Given the description of an element on the screen output the (x, y) to click on. 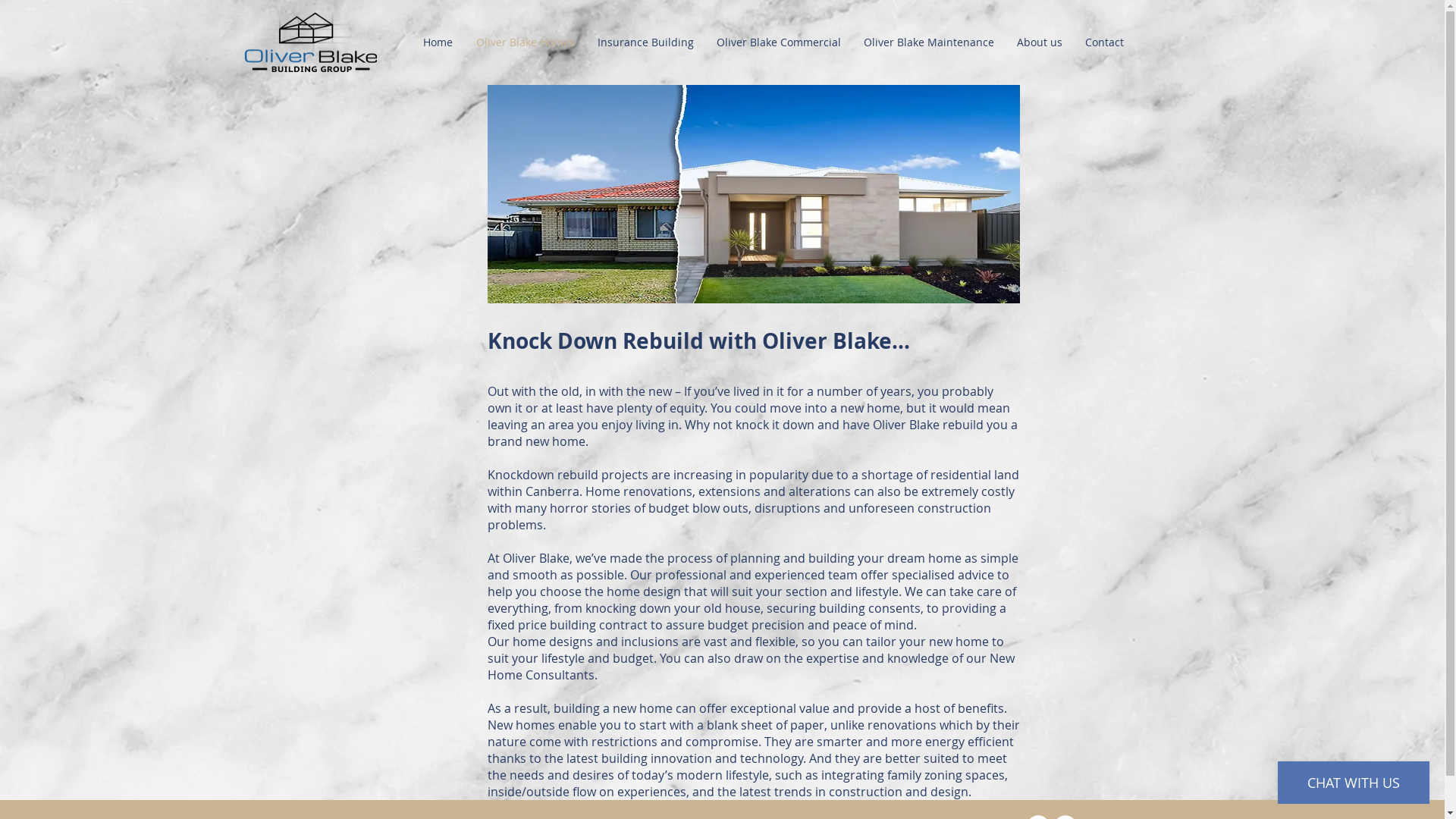
Home Element type: text (437, 41)
Oliver Blake Maintenance Element type: text (928, 41)
About us Element type: text (1039, 41)
Insurance Building Element type: text (644, 41)
Contact Element type: text (1104, 41)
Oliver Blake Commercial Element type: text (778, 41)
Oliver Blake Homes Element type: text (524, 41)
